Given the description of an element on the screen output the (x, y) to click on. 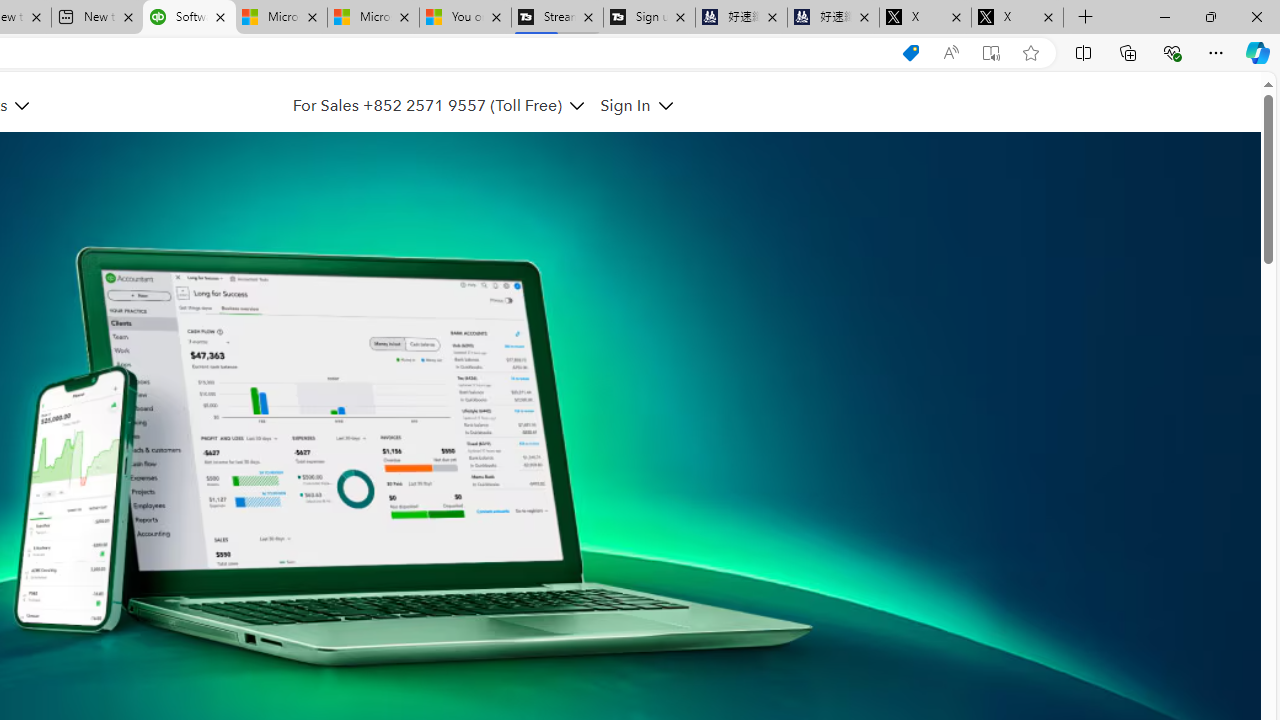
Class: MenuItem_dDown__f585abf6 MenuItem_white__f585abf6 (665, 106)
Sign In (636, 105)
